Given the description of an element on the screen output the (x, y) to click on. 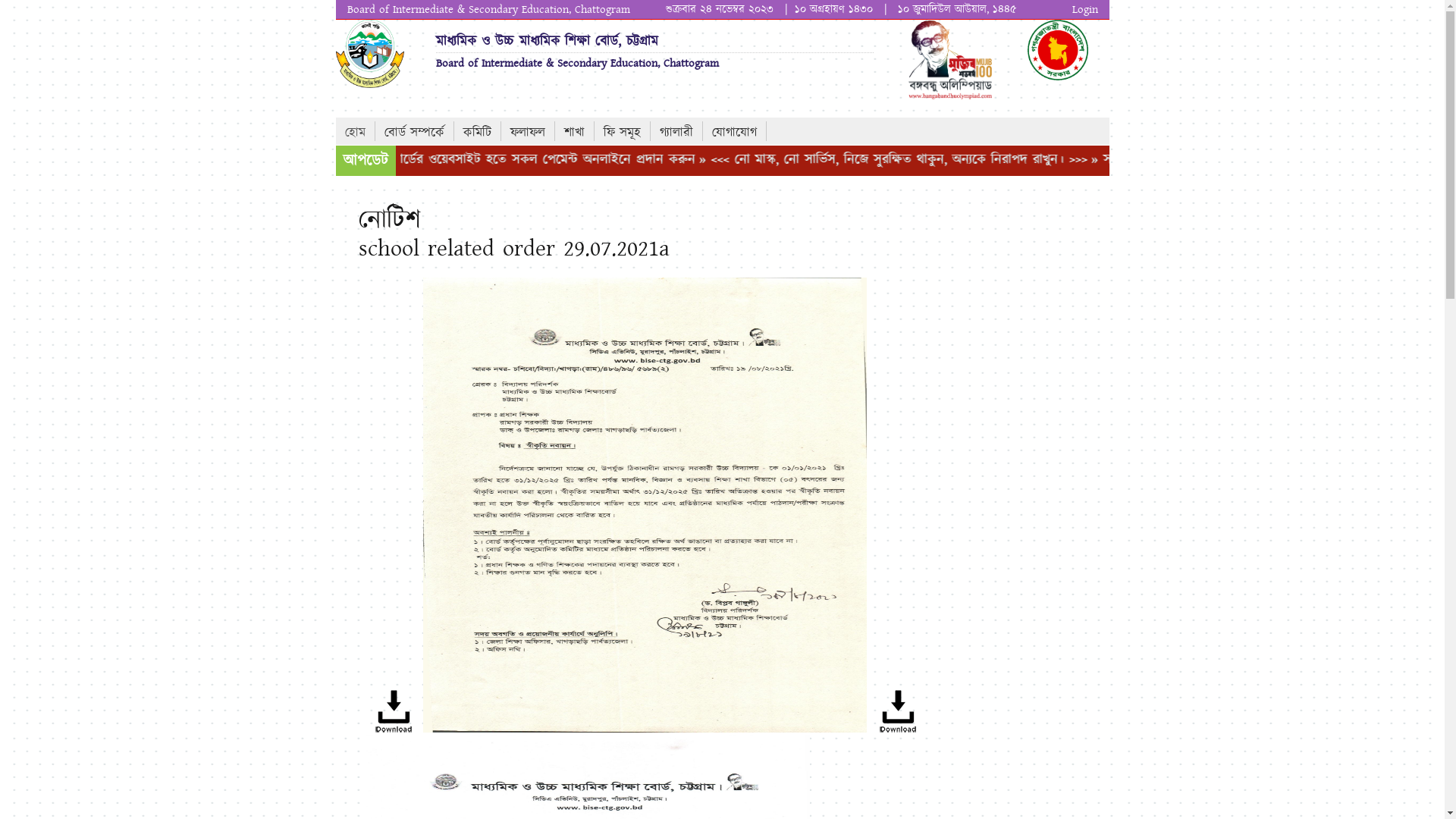
school related order 29.07.2021a Element type: hover (393, 729)
school related order 29.07.2021a Element type: hover (897, 729)
Login Element type: text (1085, 9)
